Given the description of an element on the screen output the (x, y) to click on. 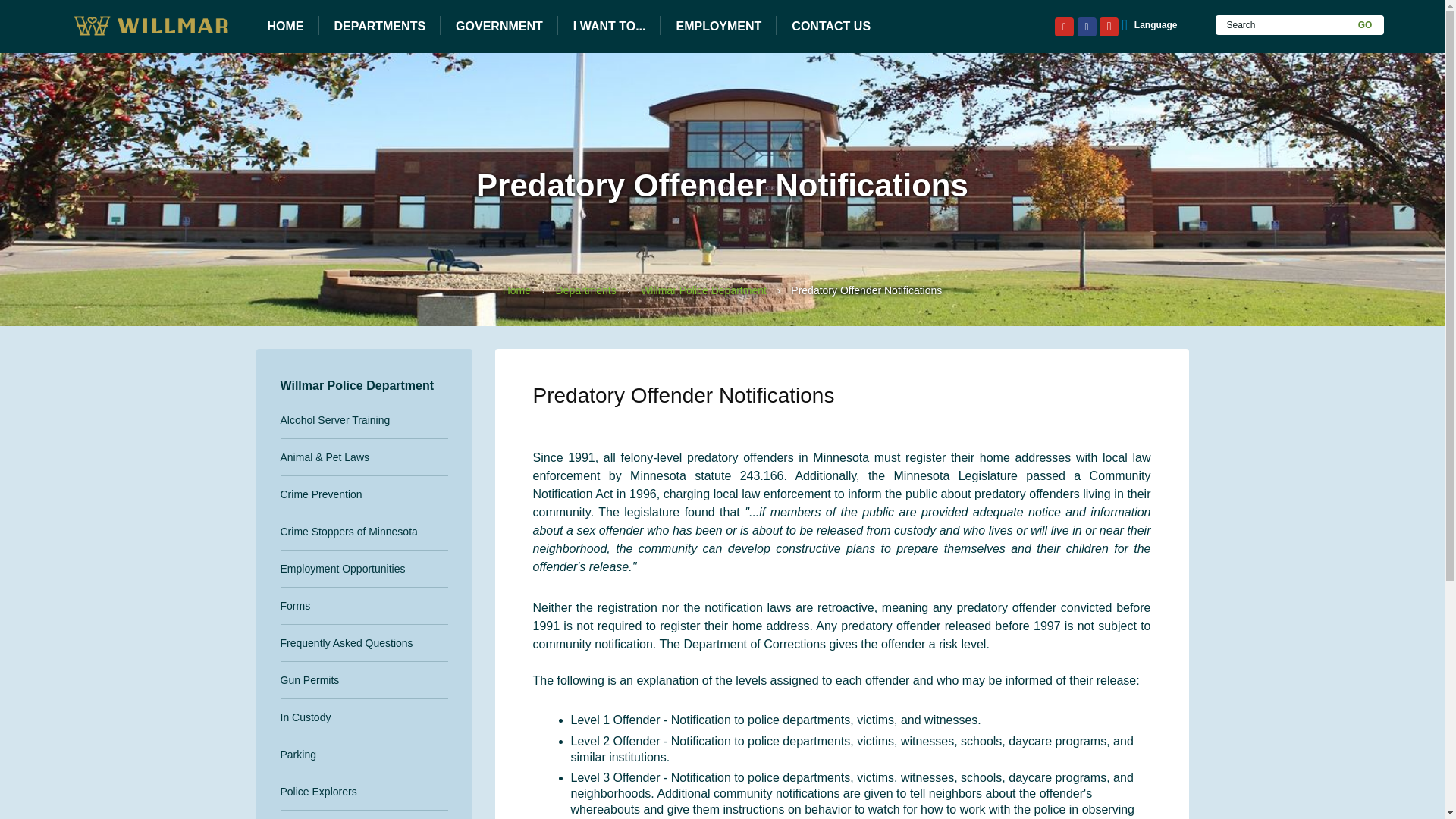
HOME (284, 26)
DEPARTMENTS (379, 26)
